Given the description of an element on the screen output the (x, y) to click on. 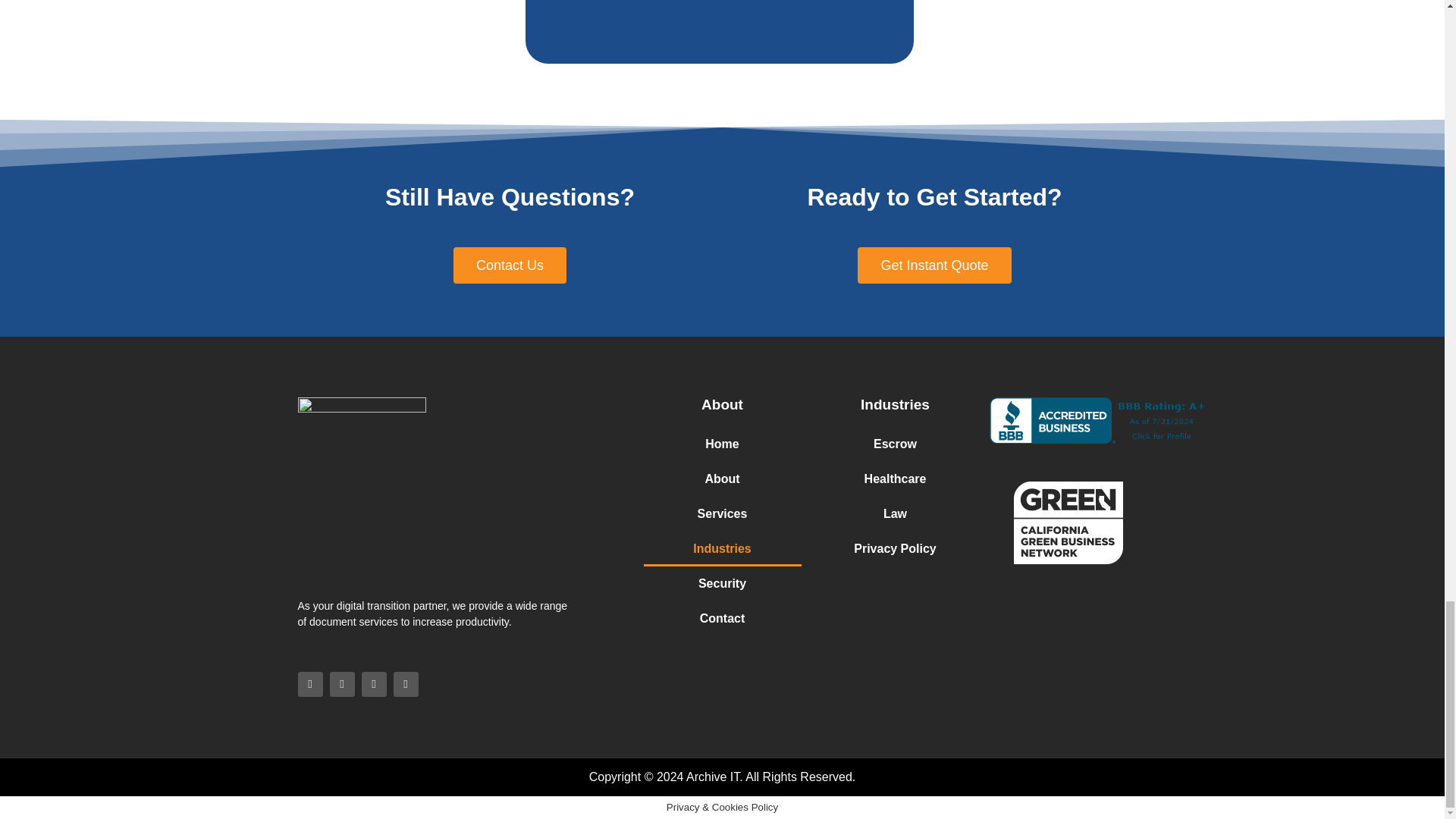
Escrow (894, 443)
About (721, 478)
Contact Us (509, 265)
Industries (721, 548)
Home (721, 443)
ArchiveIT, Document Scanning Service, Torrance, CA (1099, 420)
Services (721, 513)
Law (894, 513)
Security (721, 583)
Contact (721, 618)
Healthcare (894, 478)
Get Instant Quote (933, 265)
